Given the description of an element on the screen output the (x, y) to click on. 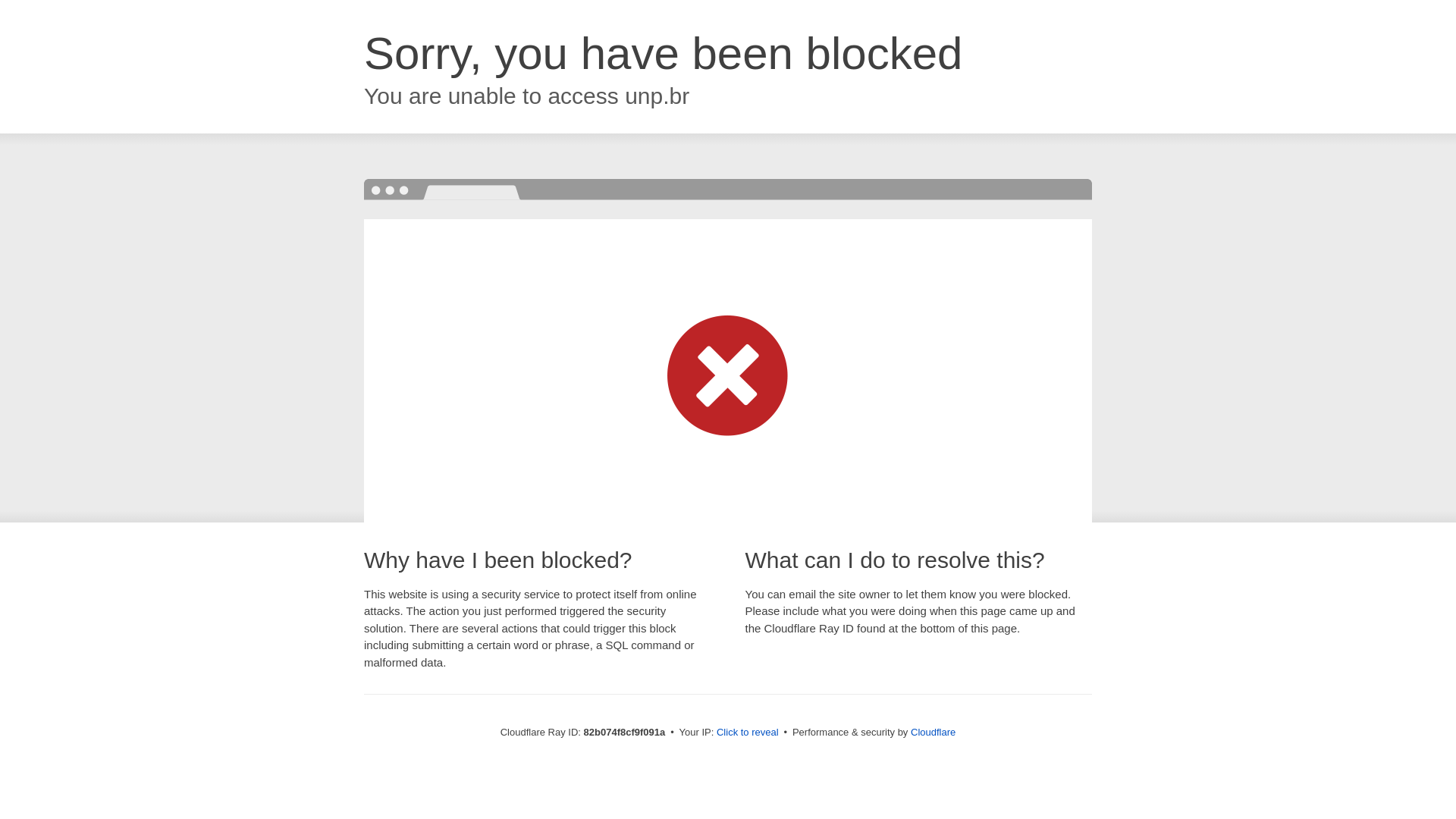
Cloudflare Element type: text (932, 731)
Click to reveal Element type: text (747, 732)
